Given the description of an element on the screen output the (x, y) to click on. 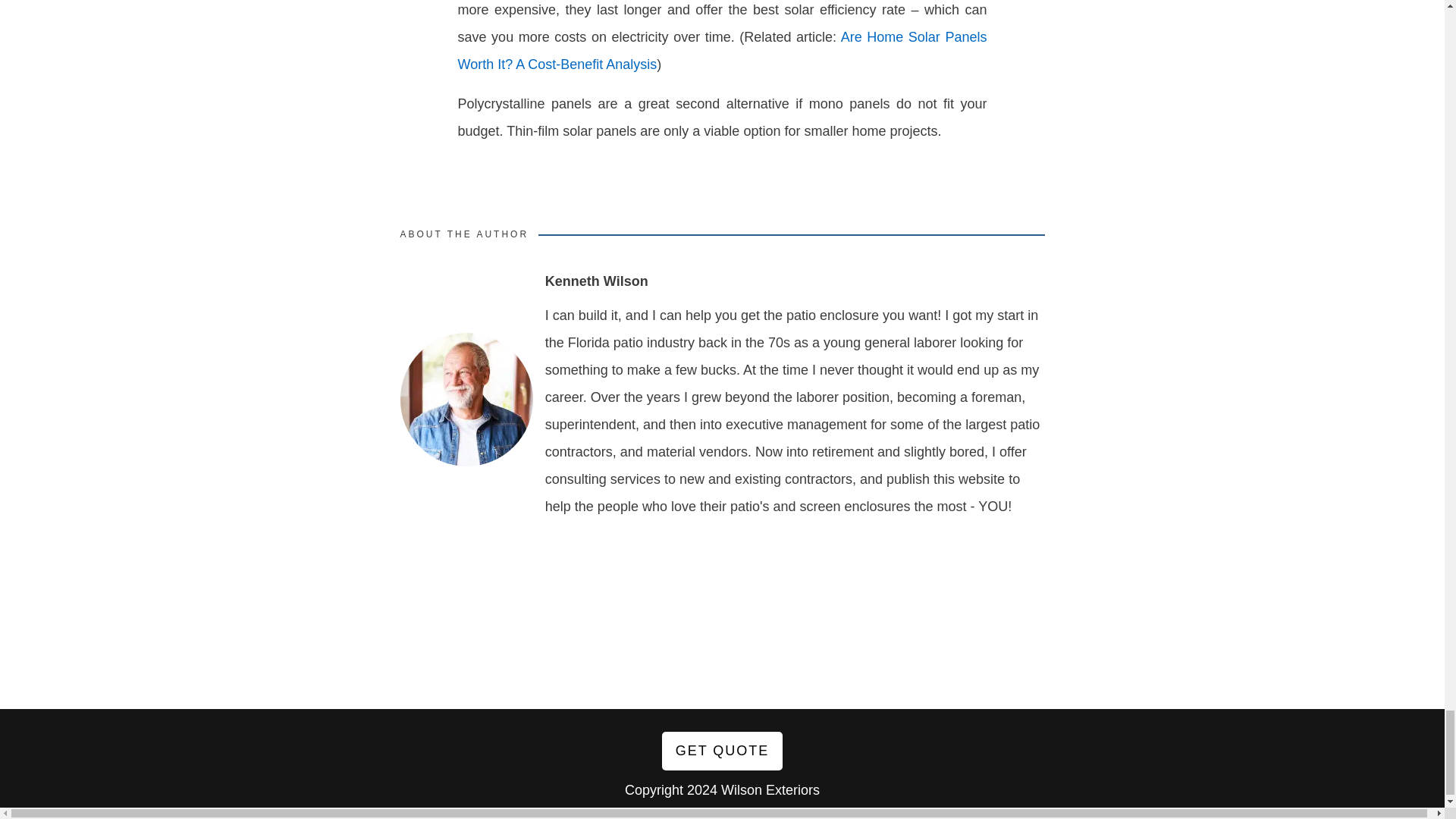
Kenneth Wilson (595, 281)
GET QUOTE (722, 751)
Are Home Solar Panels Worth It? A Cost-Benefit Analysis (722, 50)
undefined (466, 399)
